Given the description of an element on the screen output the (x, y) to click on. 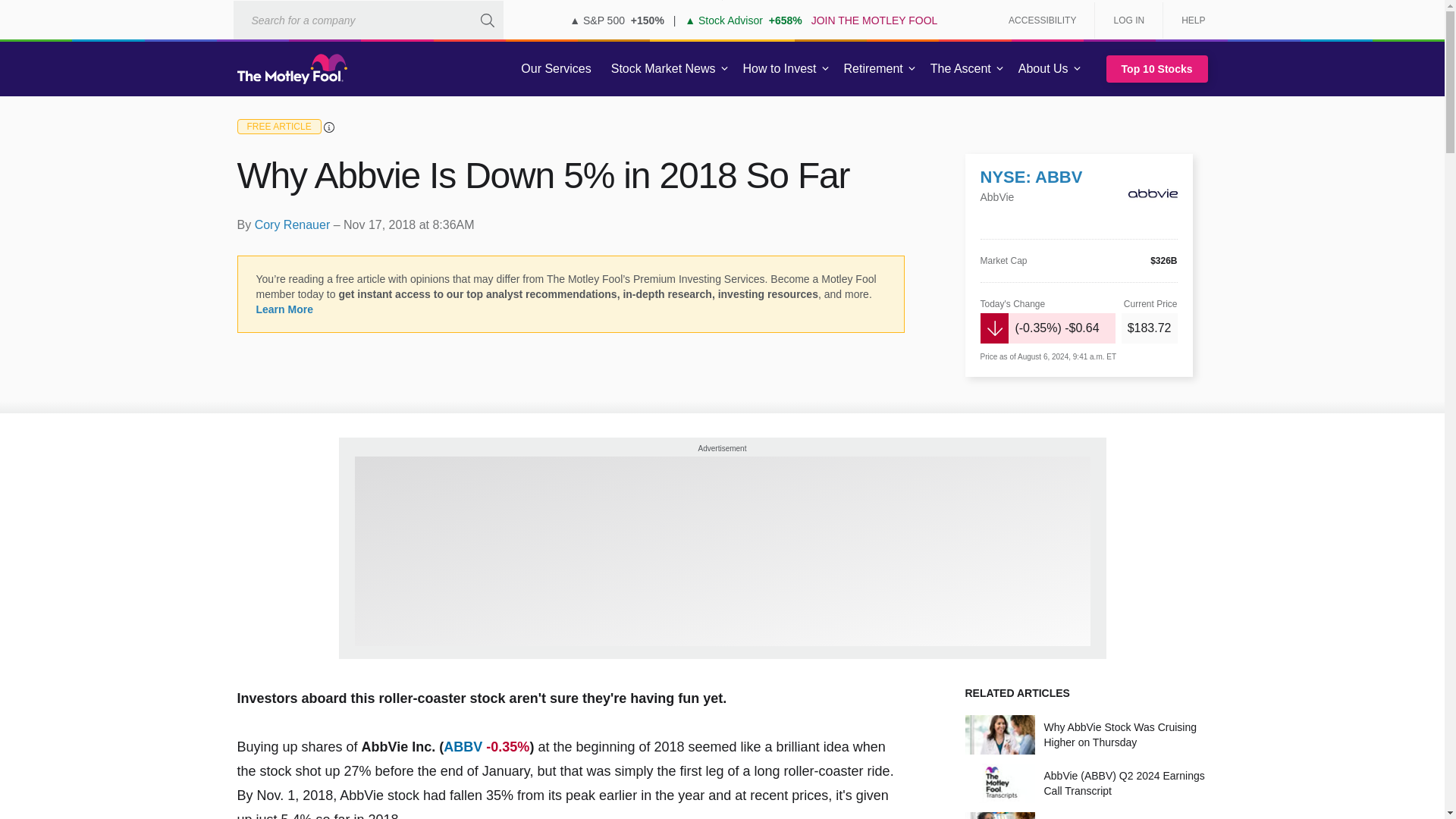
HELP (1187, 19)
How to Invest (779, 68)
LOG IN (1128, 19)
ACCESSIBILITY (1042, 19)
Stock Market News (662, 68)
Our Services (555, 68)
